Given the description of an element on the screen output the (x, y) to click on. 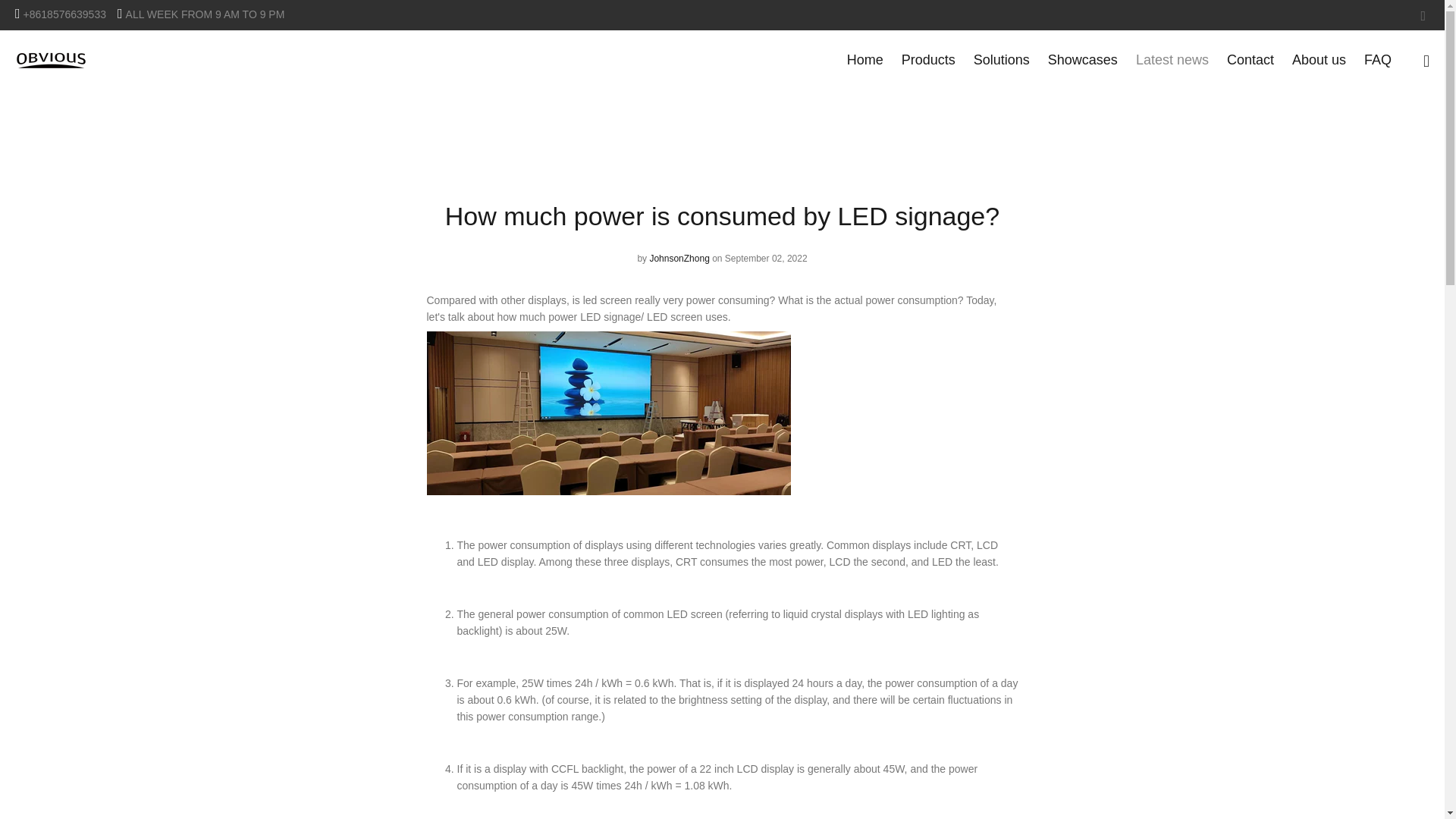
Showcases (1082, 60)
About us (1318, 60)
FAQ (1373, 60)
Solutions (1001, 60)
Latest news (1171, 60)
Home (865, 60)
Products (927, 60)
Contact (1249, 60)
